Given the description of an element on the screen output the (x, y) to click on. 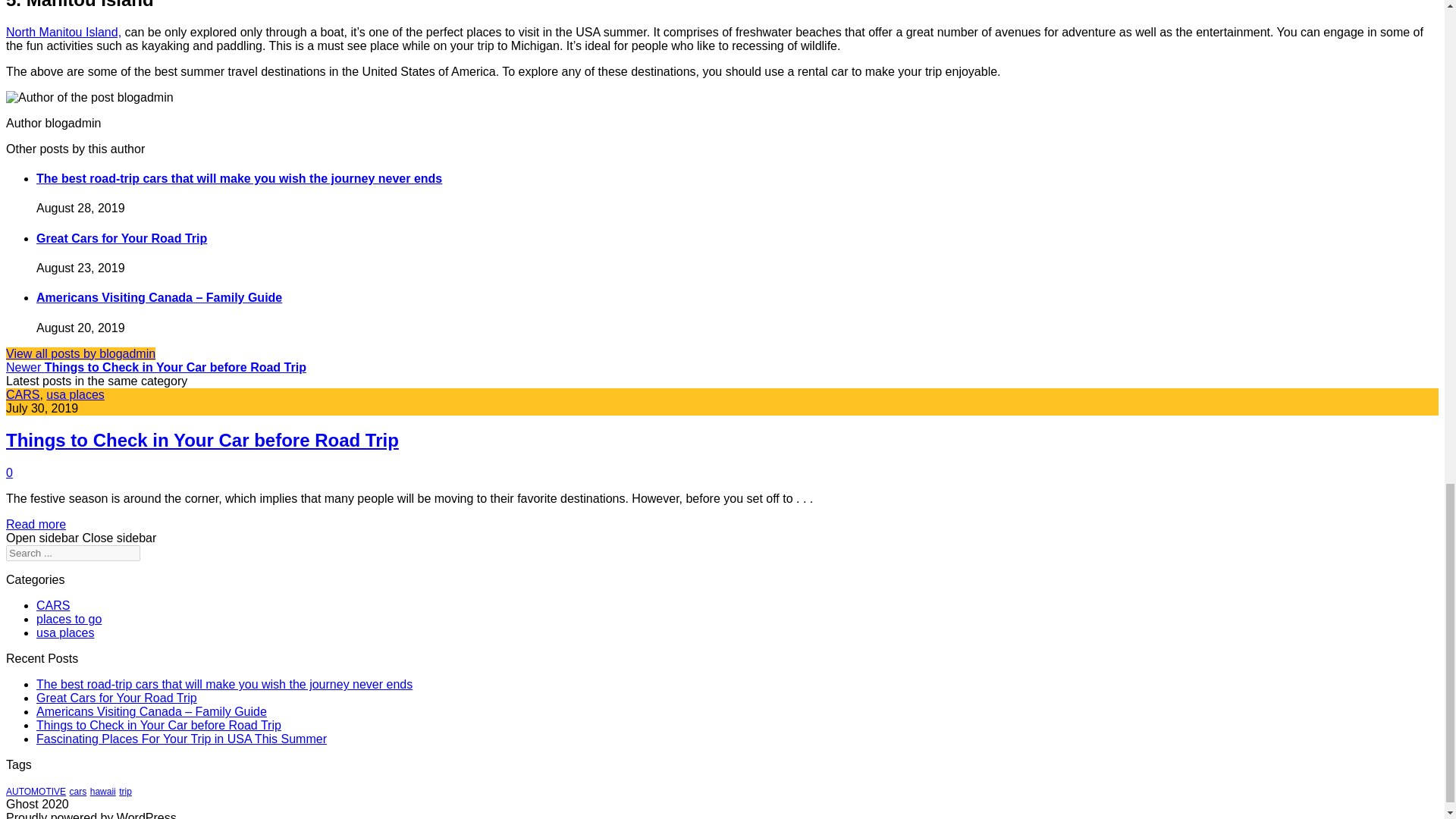
trip (125, 791)
Fascinating Places For Your Trip in USA This Summer (181, 738)
Great Cars for Your Road Trip (116, 697)
usa places (75, 394)
Great Cars for Your Road Trip (121, 237)
places to go (68, 618)
0 (9, 472)
AUTOMOTIVE (35, 791)
View all posts by blogadmin (80, 353)
cars (78, 791)
Read more (35, 523)
CARS (52, 604)
hawaii (103, 791)
North Manitou Island, (62, 31)
